Given the description of an element on the screen output the (x, y) to click on. 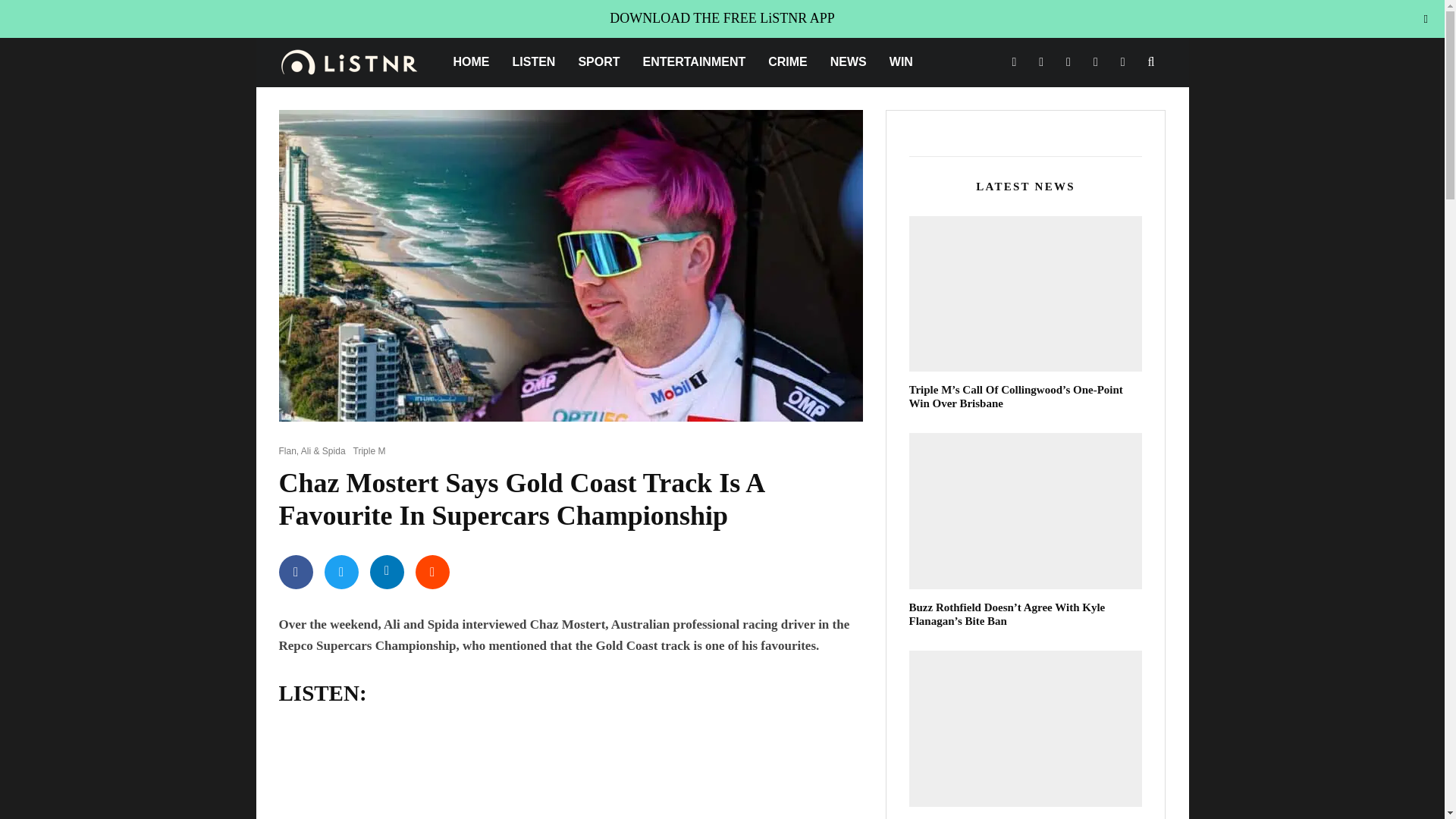
DOWNLOAD THE FREE LiSTNR APP (722, 17)
ENTERTAINMENT (694, 61)
HOME (470, 61)
SPORT (598, 61)
DOWNLOAD THE FREE LiSTNR APP (722, 17)
NEWS (847, 61)
LISTEN (533, 61)
CRIME (787, 61)
